Given the description of an element on the screen output the (x, y) to click on. 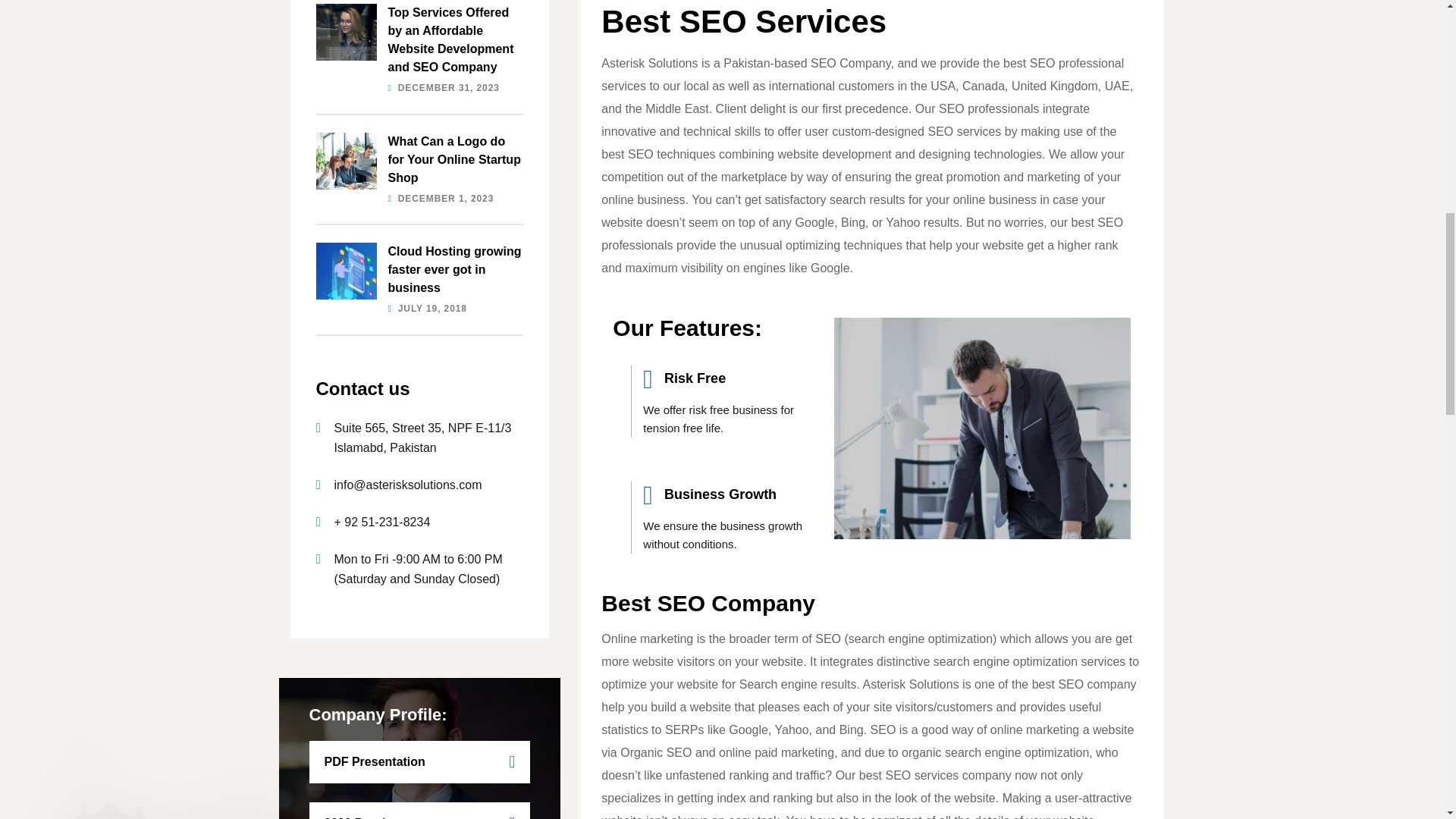
intime-02 (981, 427)
intime-03 (345, 160)
blog-list-2 (345, 270)
an-affordable-website-development-and-SEO-company (345, 32)
